Given the description of an element on the screen output the (x, y) to click on. 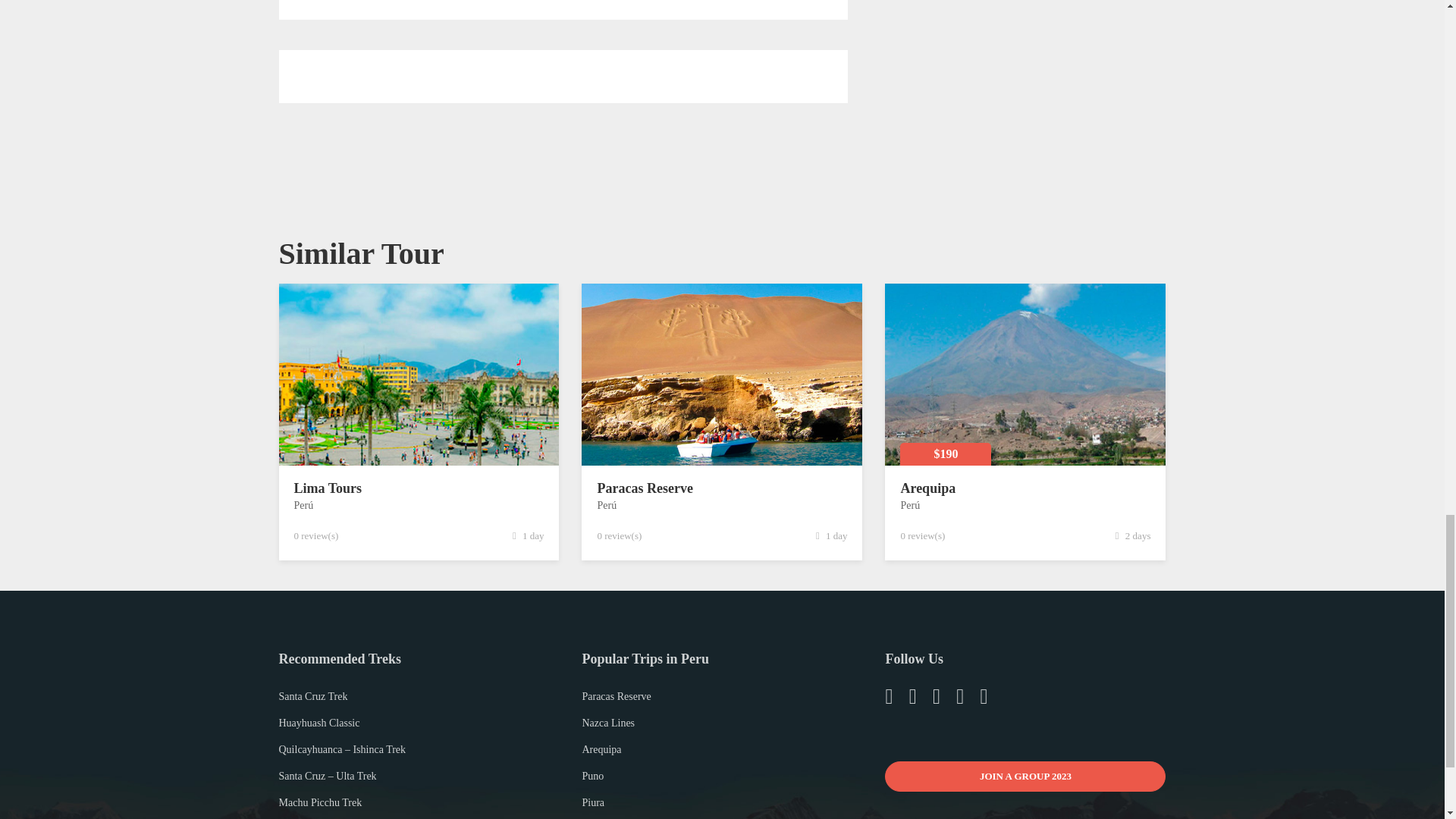
Lima Tours (328, 488)
Paracas Reserve (644, 488)
